Given the description of an element on the screen output the (x, y) to click on. 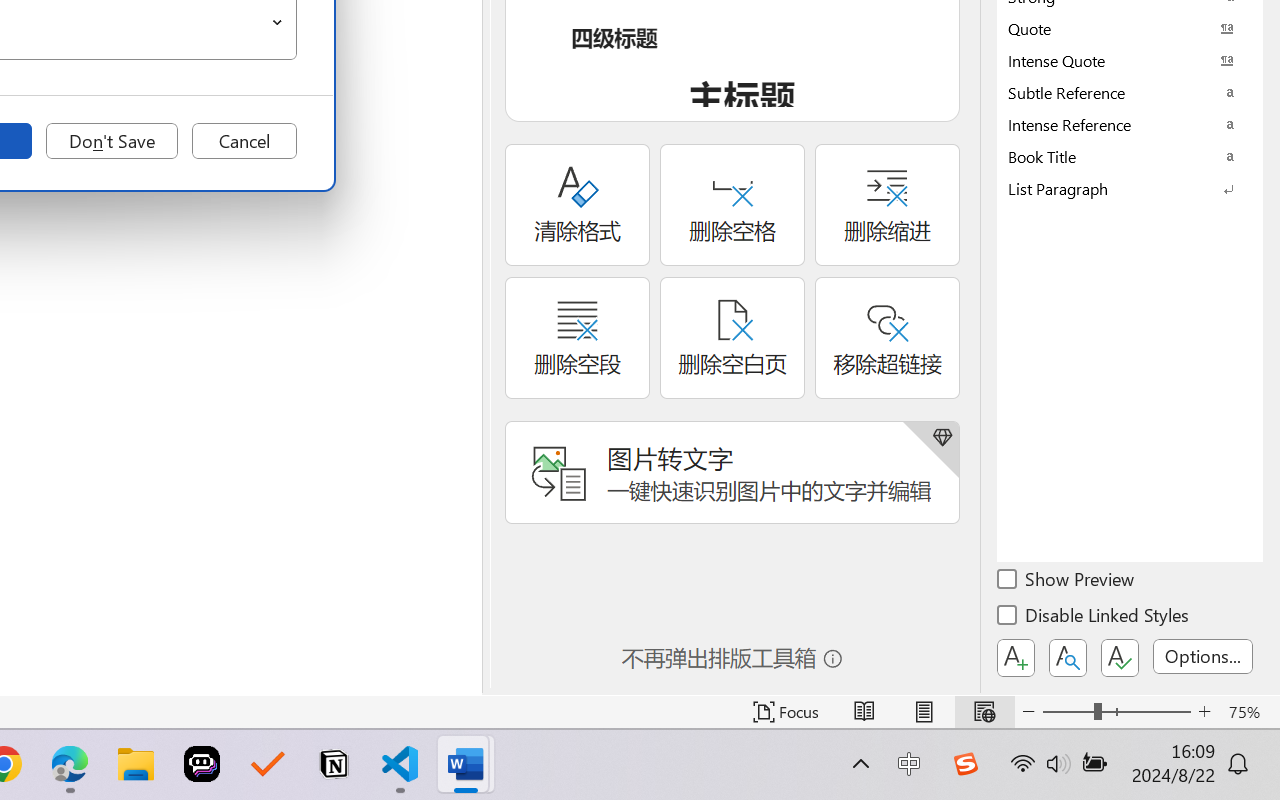
Focus  (786, 712)
Options... (1203, 656)
Book Title (1130, 156)
Zoom In (1204, 712)
Disable Linked Styles (1094, 618)
Notion (333, 764)
Show Preview (1067, 582)
